Given the description of an element on the screen output the (x, y) to click on. 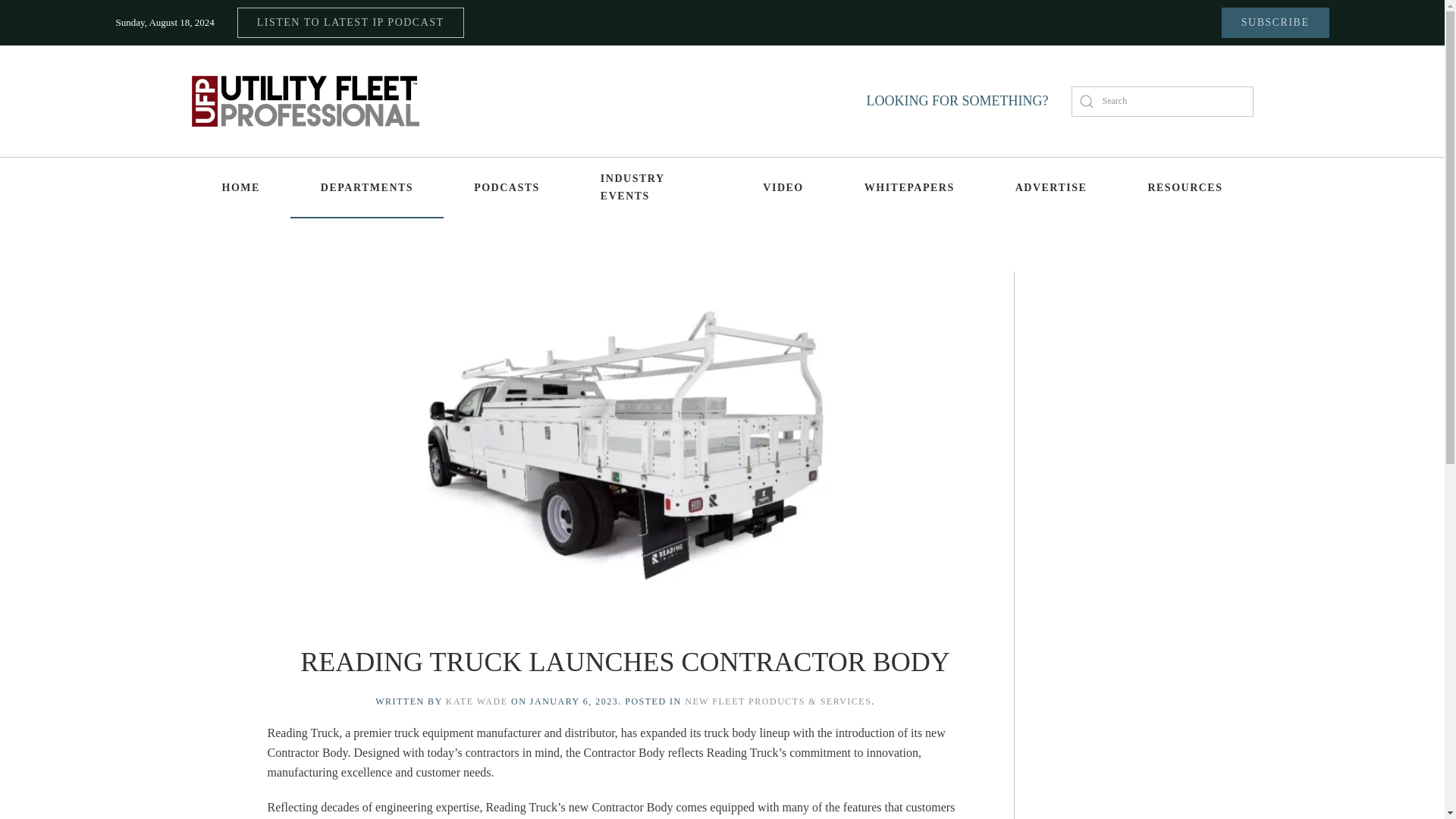
LISTEN TO LATEST IP PODCAST (350, 22)
DEPARTMENTS (366, 188)
HOME (239, 188)
SUBSCRIBE (1275, 22)
